Given the description of an element on the screen output the (x, y) to click on. 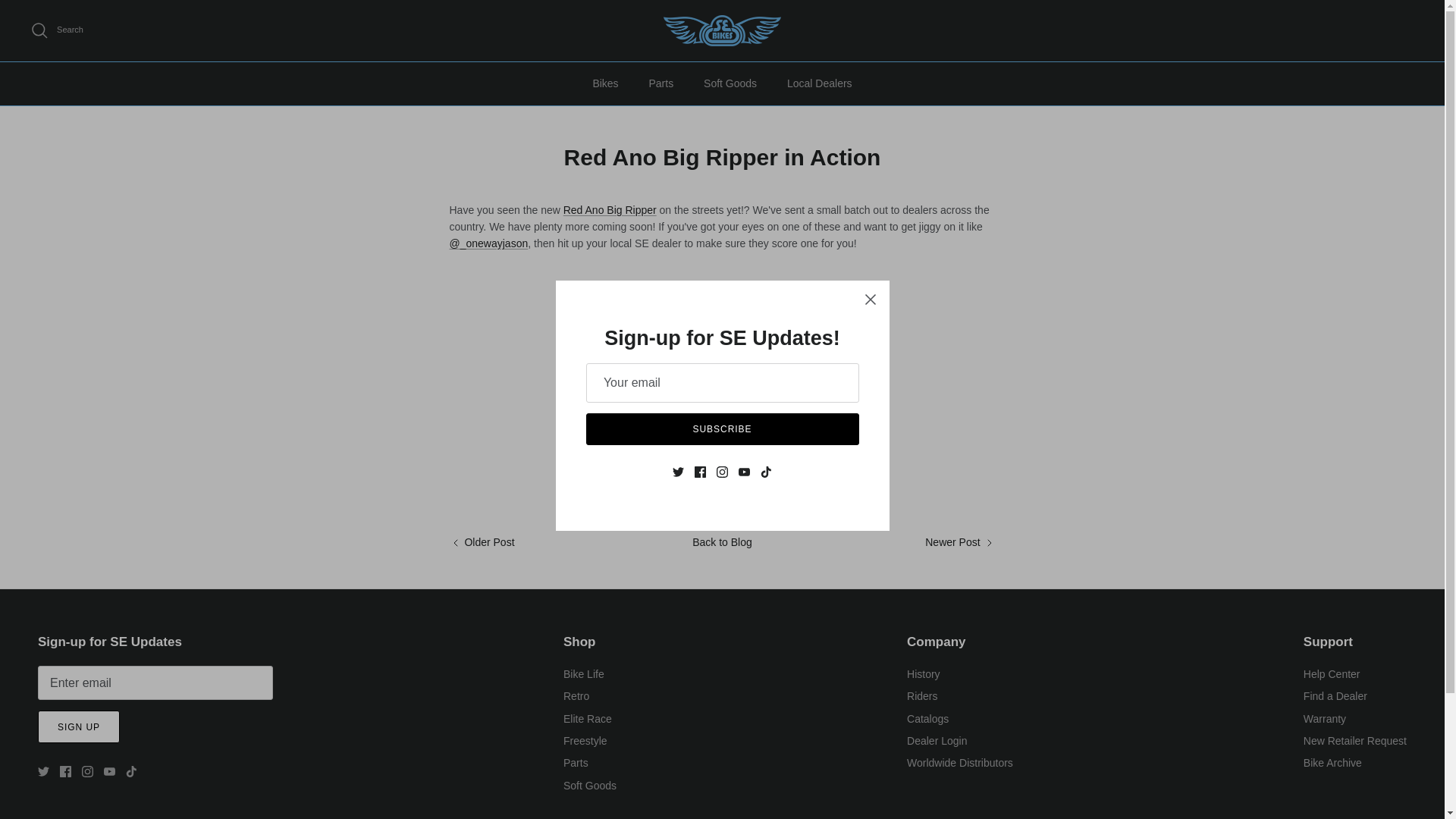
Twitter (43, 771)
Soft Goods (730, 83)
YouTube video player (660, 371)
Right (988, 542)
SE BIKES Europe (721, 30)
Local Dealers (819, 83)
Youtube (109, 771)
Bikes (604, 83)
Facebook (65, 771)
Instagram (87, 771)
Parts (660, 83)
Left (454, 542)
Search (56, 30)
